Given the description of an element on the screen output the (x, y) to click on. 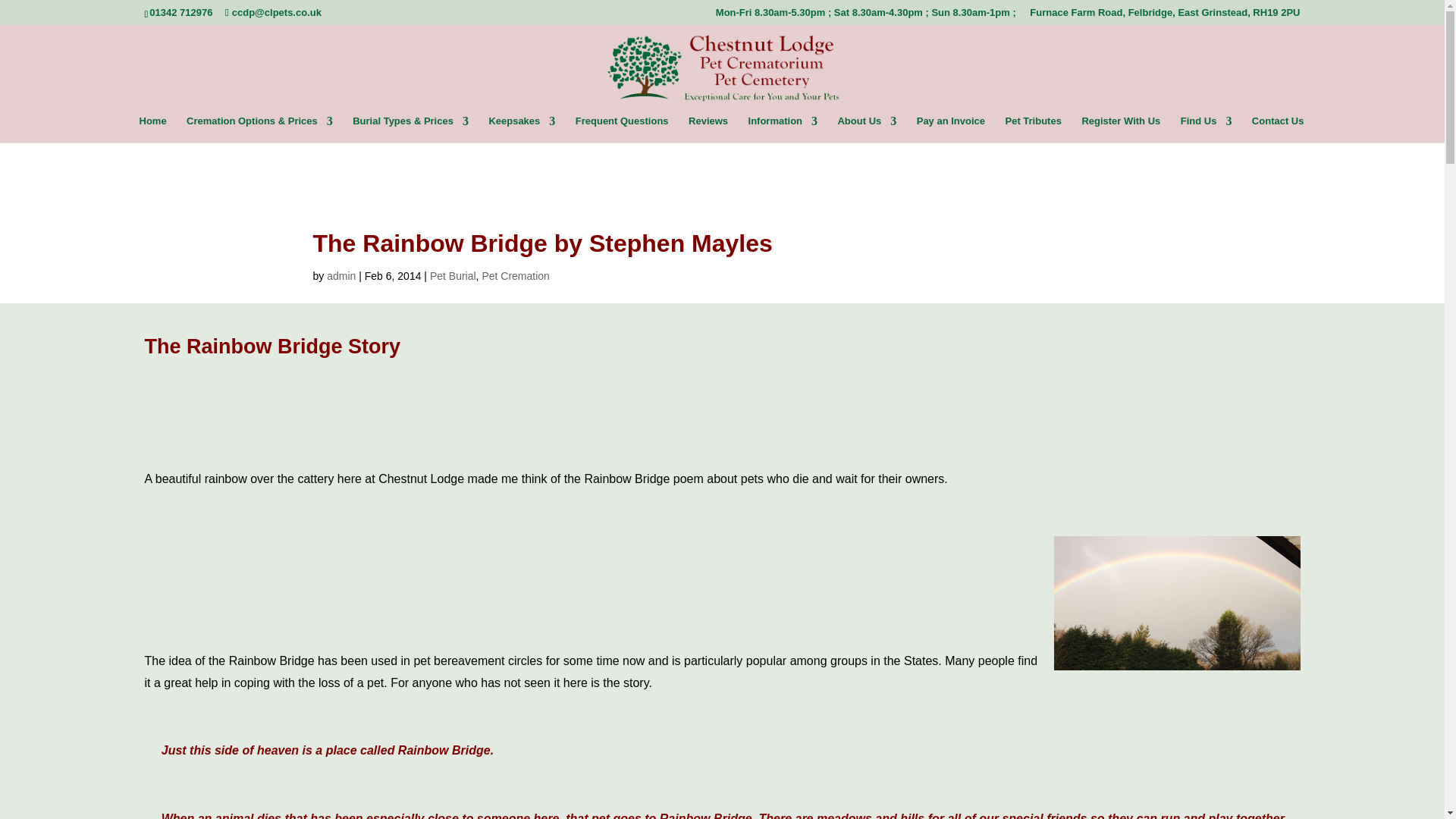
Keepsakes (520, 128)
Reviews (708, 128)
Information (783, 128)
Furnace Farm Road, Felbridge, East Grinstead, RH19 2PU (1164, 16)
Rainbow over chestnut lodge (1177, 603)
Mon-Fri 8.30am-5.30pm ; Sat 8.30am-4.30pm ; Sun 8.30am-1pm ; (866, 16)
About Us (866, 128)
Home (153, 128)
Frequent Questions (621, 128)
Posts by admin (340, 275)
